Given the description of an element on the screen output the (x, y) to click on. 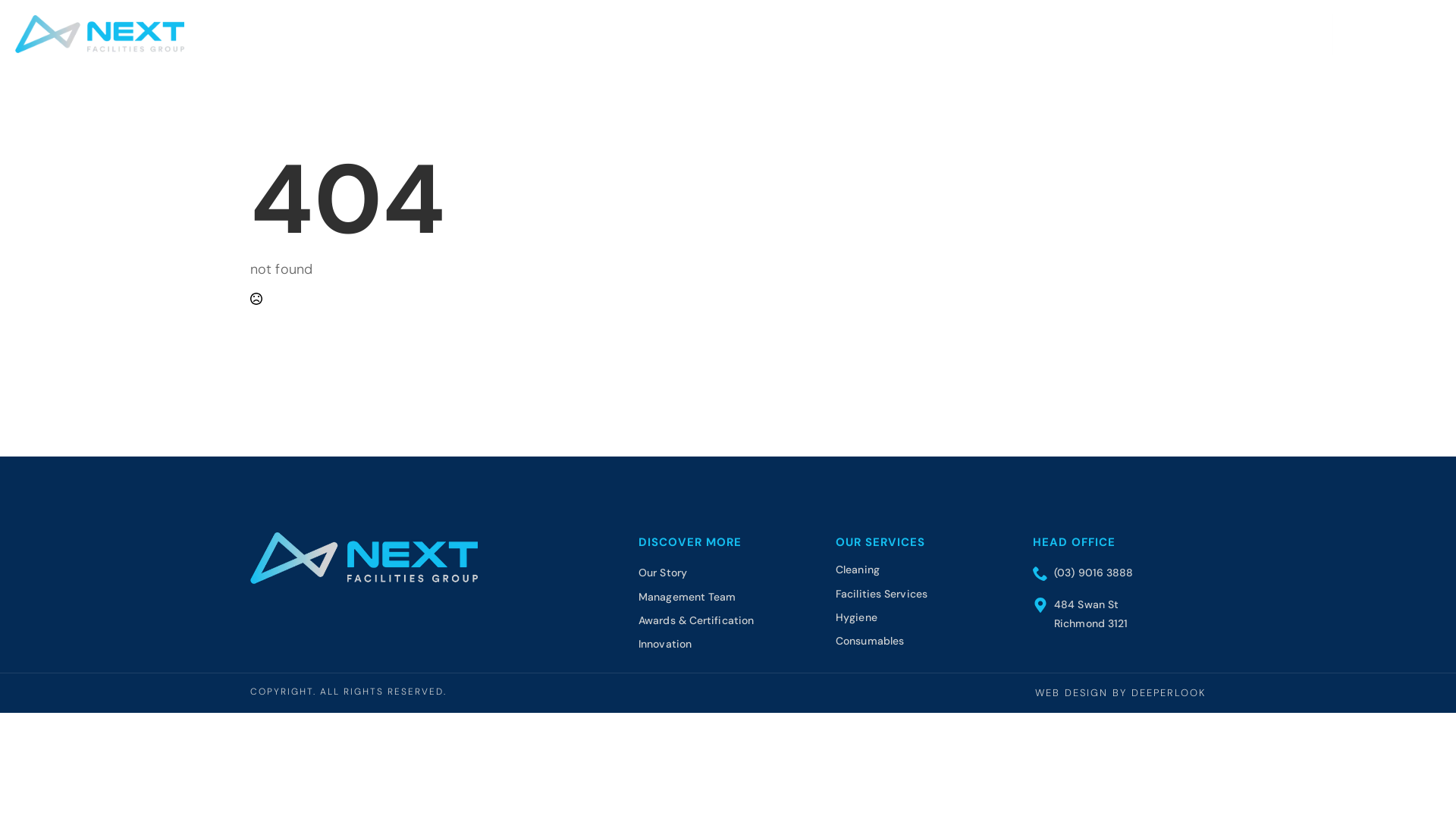
CONTACT Element type: text (1290, 33)
Management Team Element type: text (687, 596)
Innovation Element type: text (664, 643)
Cleaning Element type: text (857, 569)
INNOVATION Element type: text (1177, 33)
WEB DESIGN BY DEEPERLOOK Element type: text (1120, 692)
SERVICES Element type: text (1072, 33)
Facilities Services Element type: text (881, 593)
ABOUT Element type: text (981, 33)
HOME Element type: text (922, 33)
(03) 9016 3888 Element type: text (1082, 572)
Hygiene Element type: text (856, 617)
Awards & Certification Element type: text (695, 620)
Consumables Element type: text (869, 640)
484 Swan St
Richmond 3121 Element type: text (1082, 614)
CLIENT LOGIN Element type: text (1386, 33)
Our Story Element type: text (662, 572)
